Given the description of an element on the screen output the (x, y) to click on. 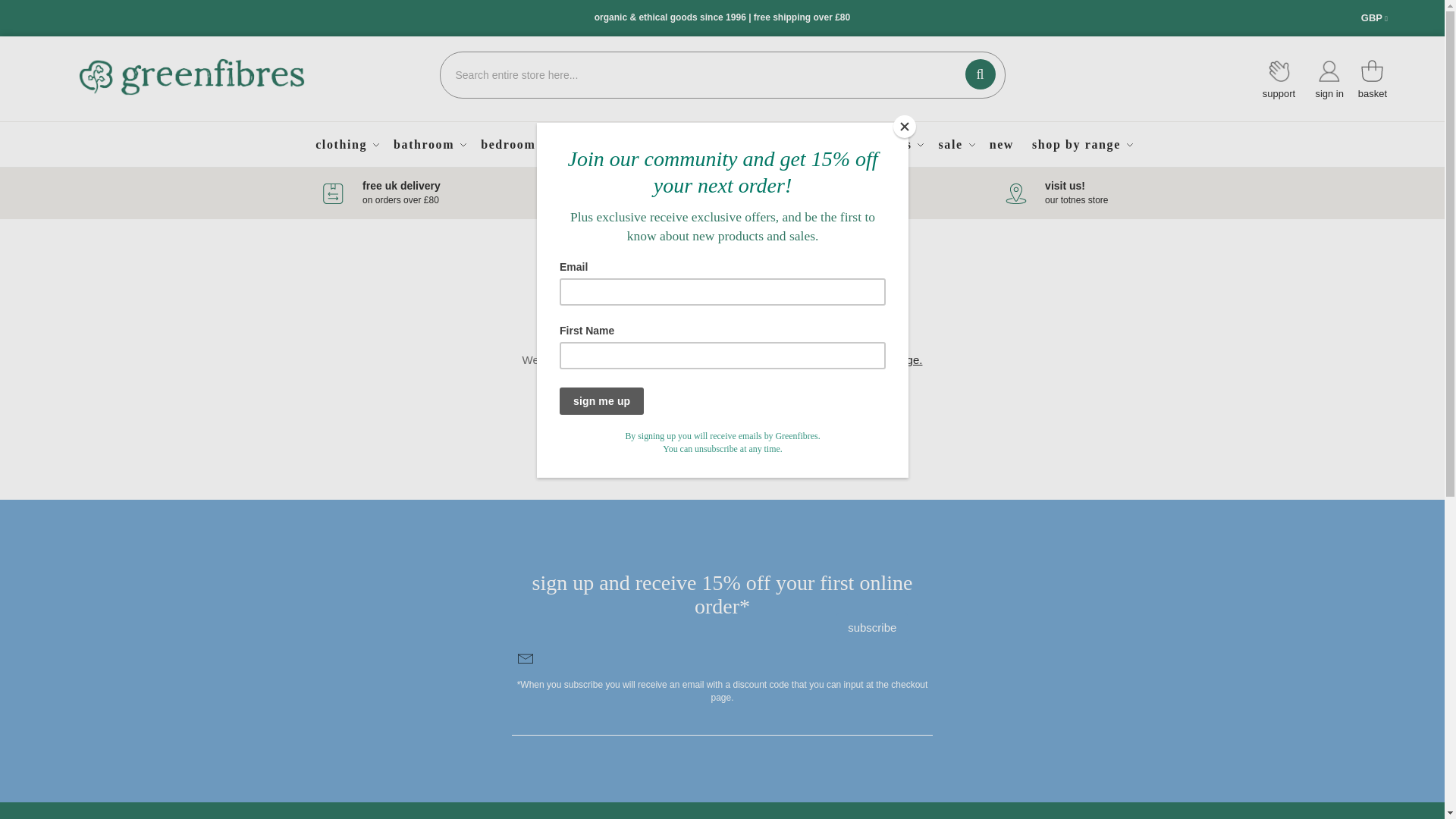
bathroom (427, 144)
Greenfibres (1372, 66)
support (191, 76)
bedroom (1279, 78)
Subscribe (512, 144)
sign in (871, 627)
Greenfibres (1329, 78)
clothing (191, 78)
